Given the description of an element on the screen output the (x, y) to click on. 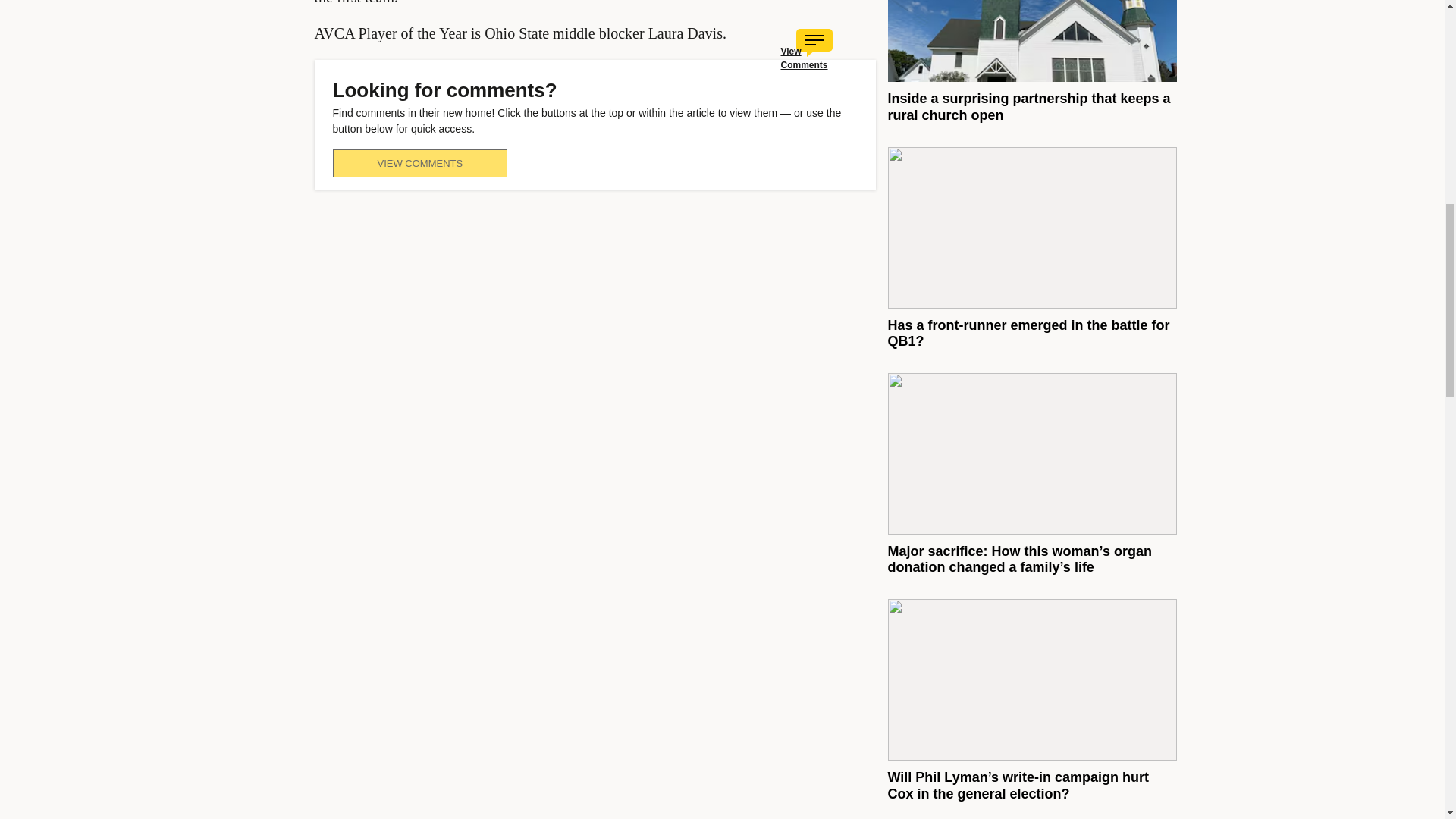
Has a front-runner emerged in the battle for QB1? (1027, 333)
VIEW COMMENTS (418, 163)
